Given the description of an element on the screen output the (x, y) to click on. 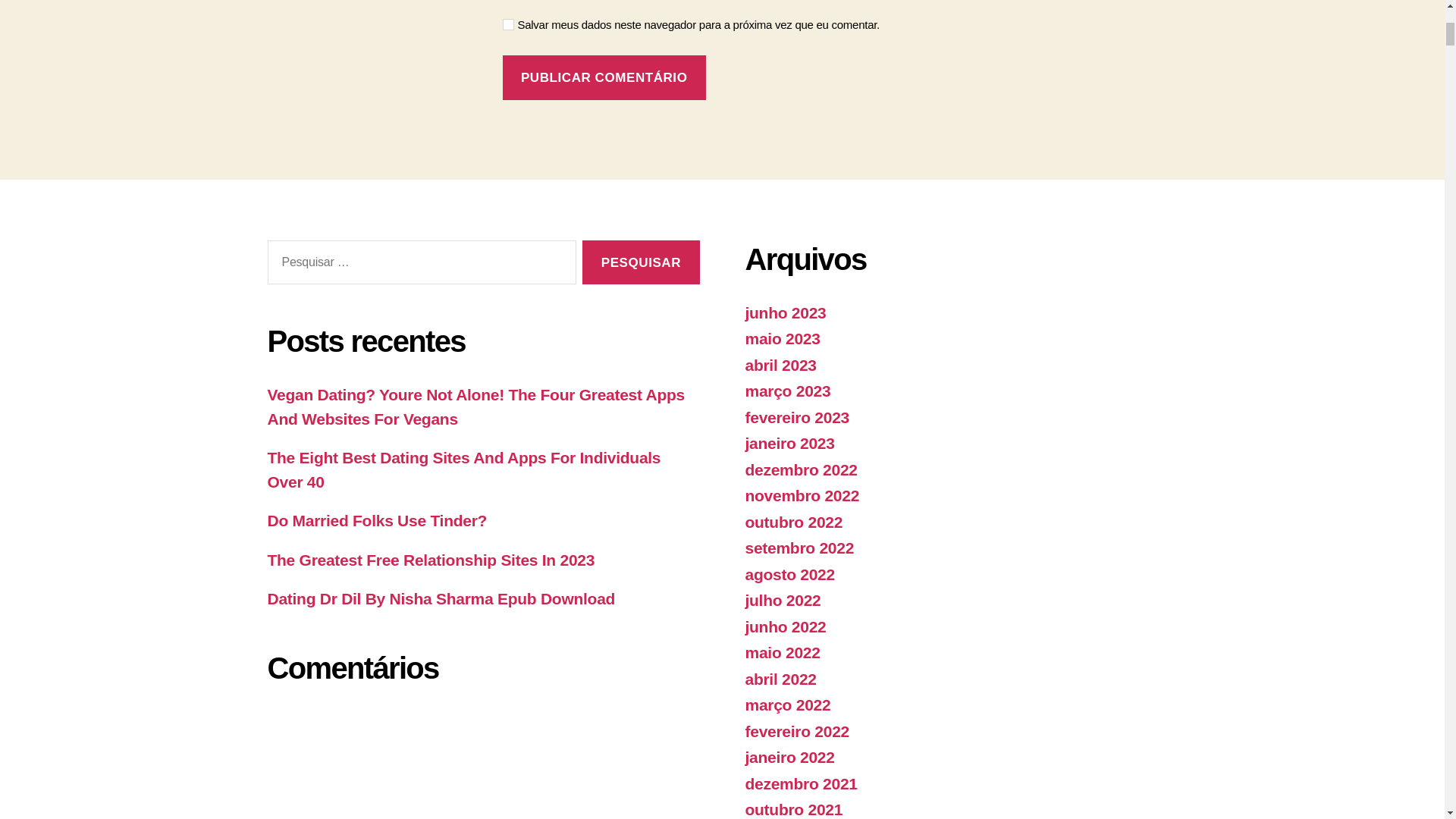
dezembro 2022 (800, 469)
Pesquisar (640, 262)
outubro 2022 (793, 521)
Pesquisar (640, 262)
fevereiro 2023 (796, 416)
maio 2023 (781, 338)
The Eight Best Dating Sites And Apps For Individuals Over 40 (463, 469)
Dating Dr Dil By Nisha Sharma Epub Download (440, 598)
novembro 2022 (801, 495)
yes (507, 24)
